Given the description of an element on the screen output the (x, y) to click on. 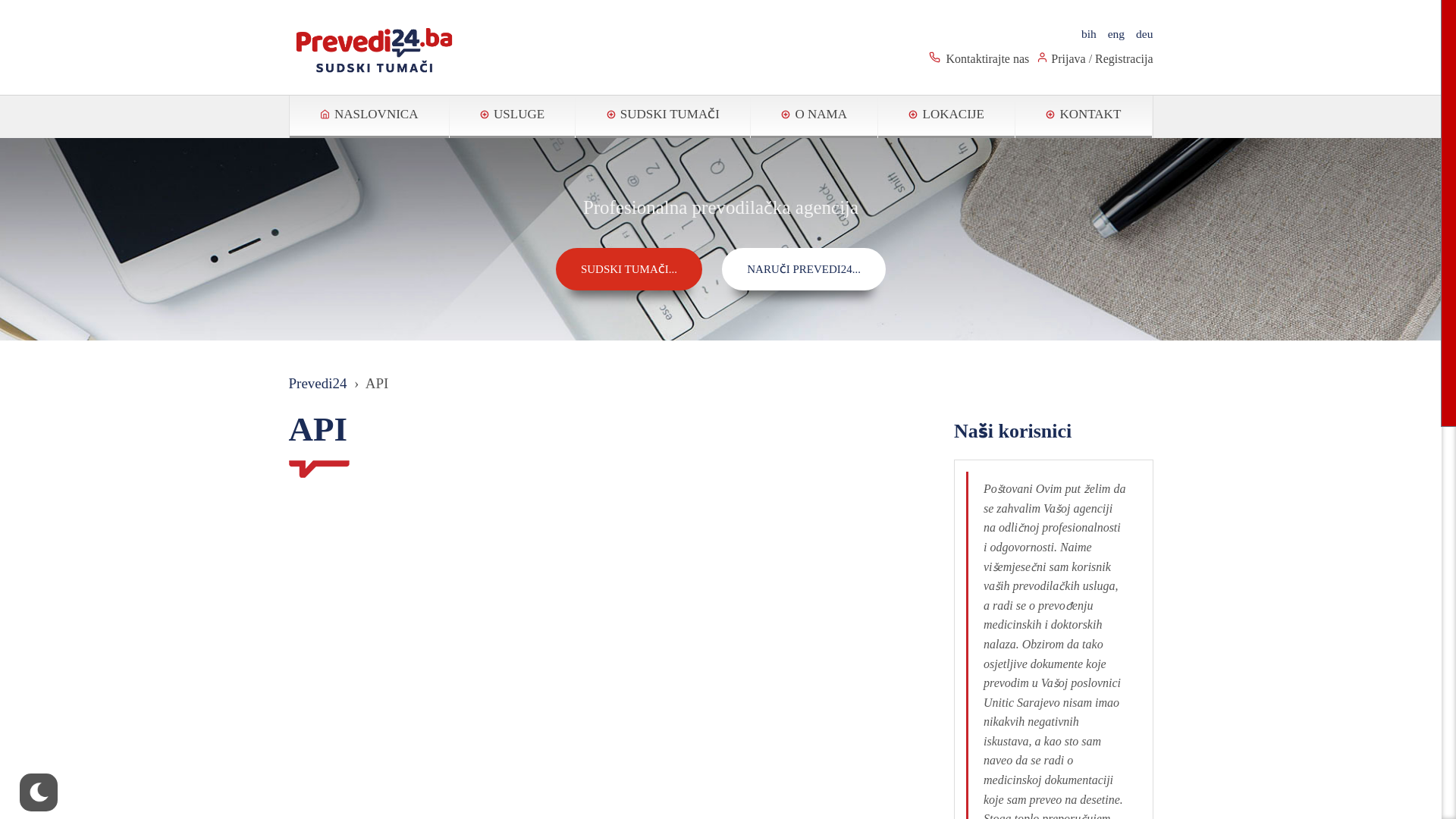
Kontaktirajte nas Element type: text (987, 58)
Prijava Element type: text (1068, 58)
bih Element type: text (1083, 32)
Prevedi24 Element type: hover (373, 48)
eng Element type: text (1110, 32)
Registracija Element type: text (1123, 58)
USLUGE Element type: text (512, 116)
deu Element type: text (1138, 32)
Prevedi24 Element type: text (317, 383)
KONTAKT Element type: text (1083, 116)
O NAMA Element type: text (813, 116)
LOKACIJE Element type: text (946, 116)
NASLOVNICA Element type: text (368, 116)
